Given the description of an element on the screen output the (x, y) to click on. 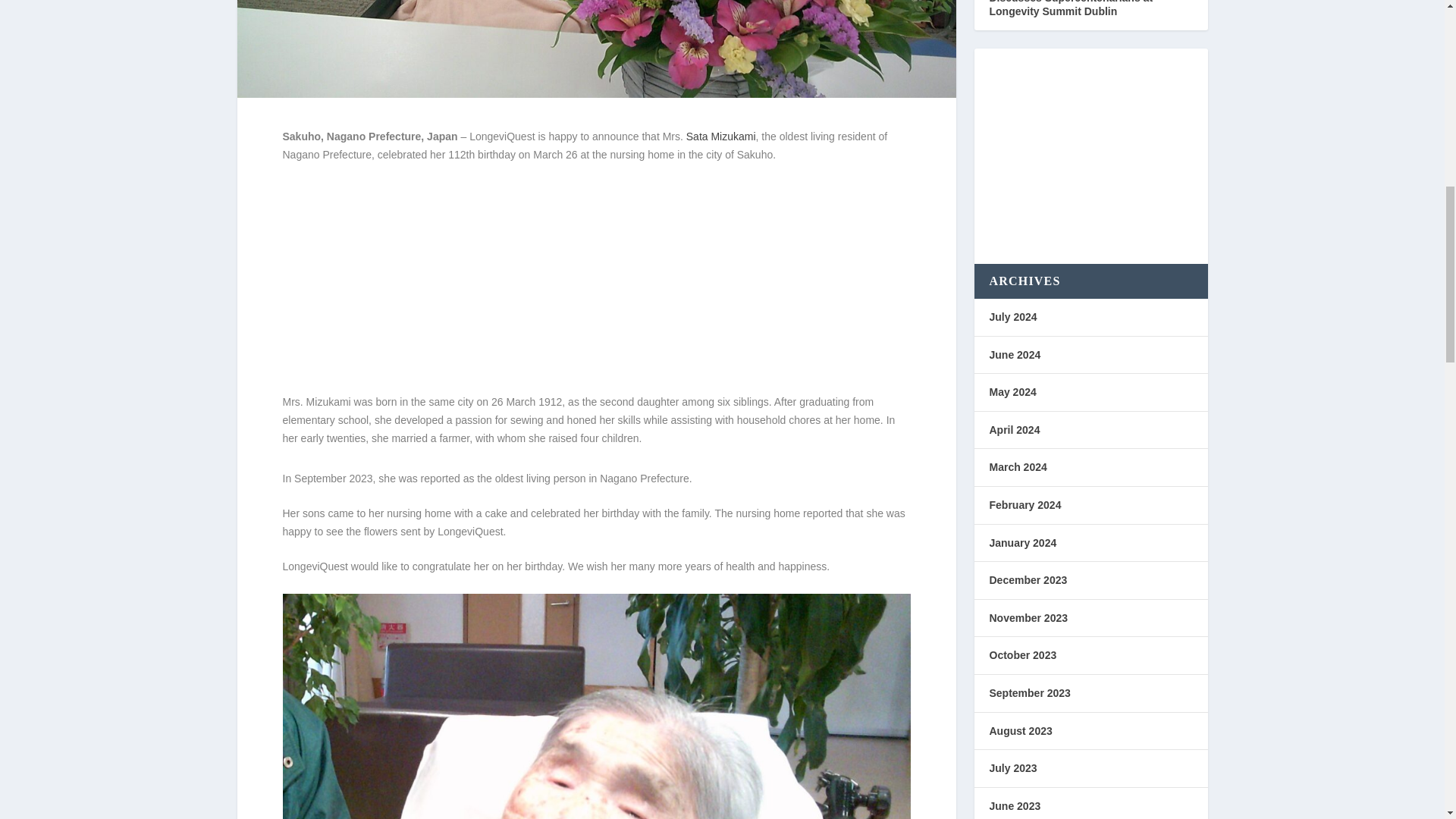
Advertisement (596, 286)
Advertisement (1090, 150)
